Given the description of an element on the screen output the (x, y) to click on. 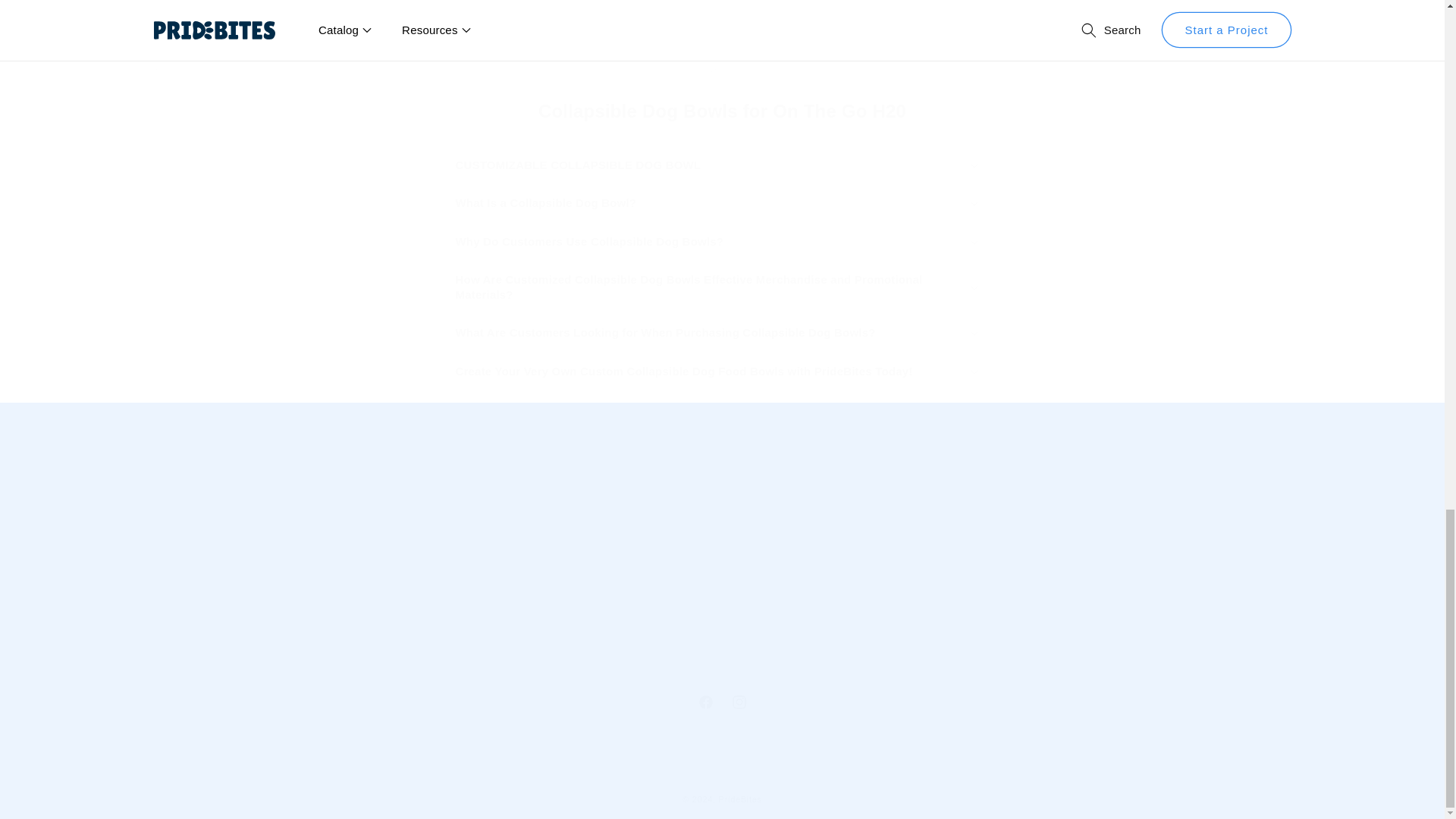
Collapsible Dog Bowls for On The Go H20 (721, 110)
Start a Project (1151, 569)
